Given the description of an element on the screen output the (x, y) to click on. 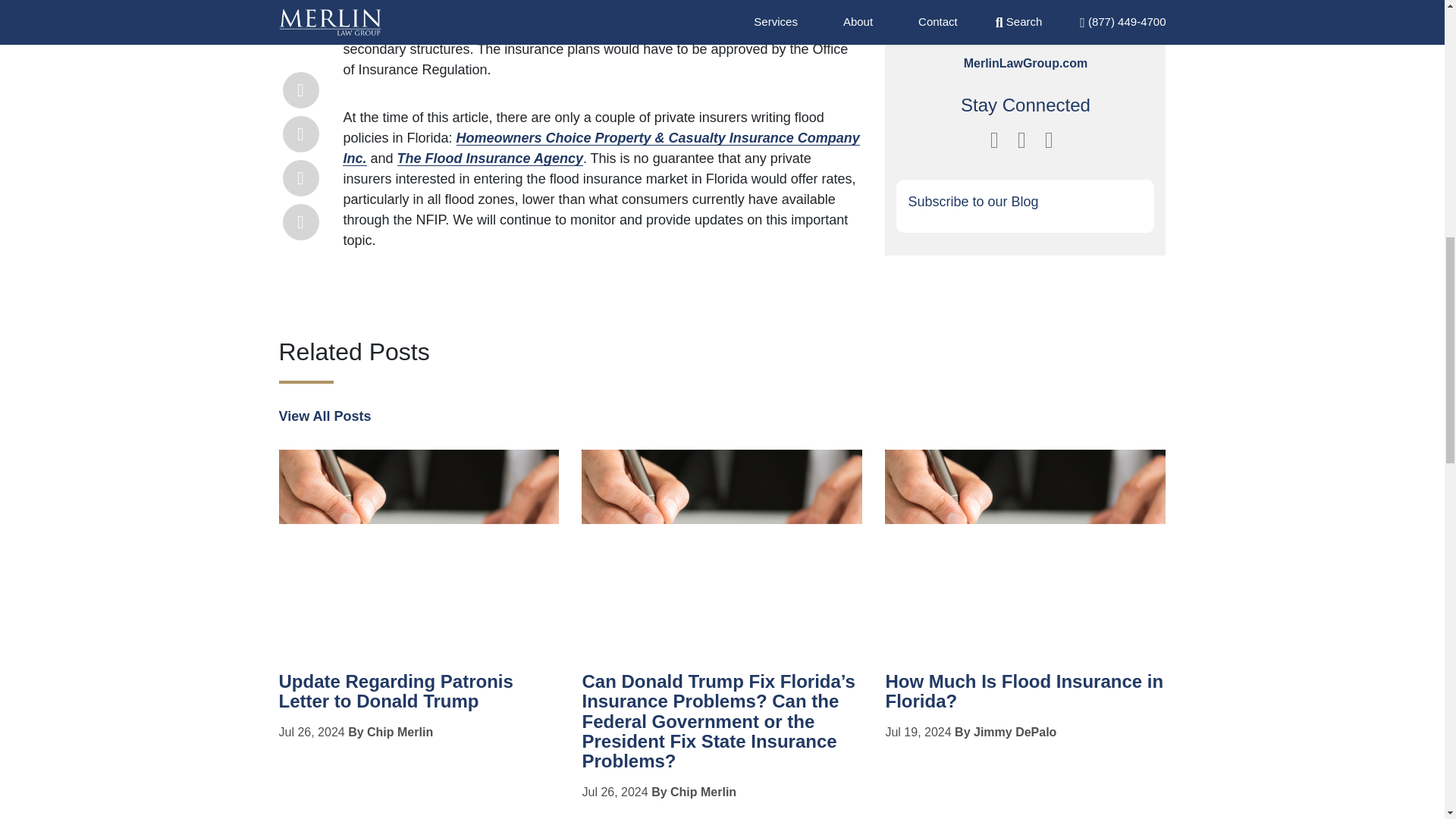
View All Posts (325, 416)
The Flood Insurance Agency (490, 158)
Update Regarding Patronis Letter to Donald Trump (396, 690)
